Given the description of an element on the screen output the (x, y) to click on. 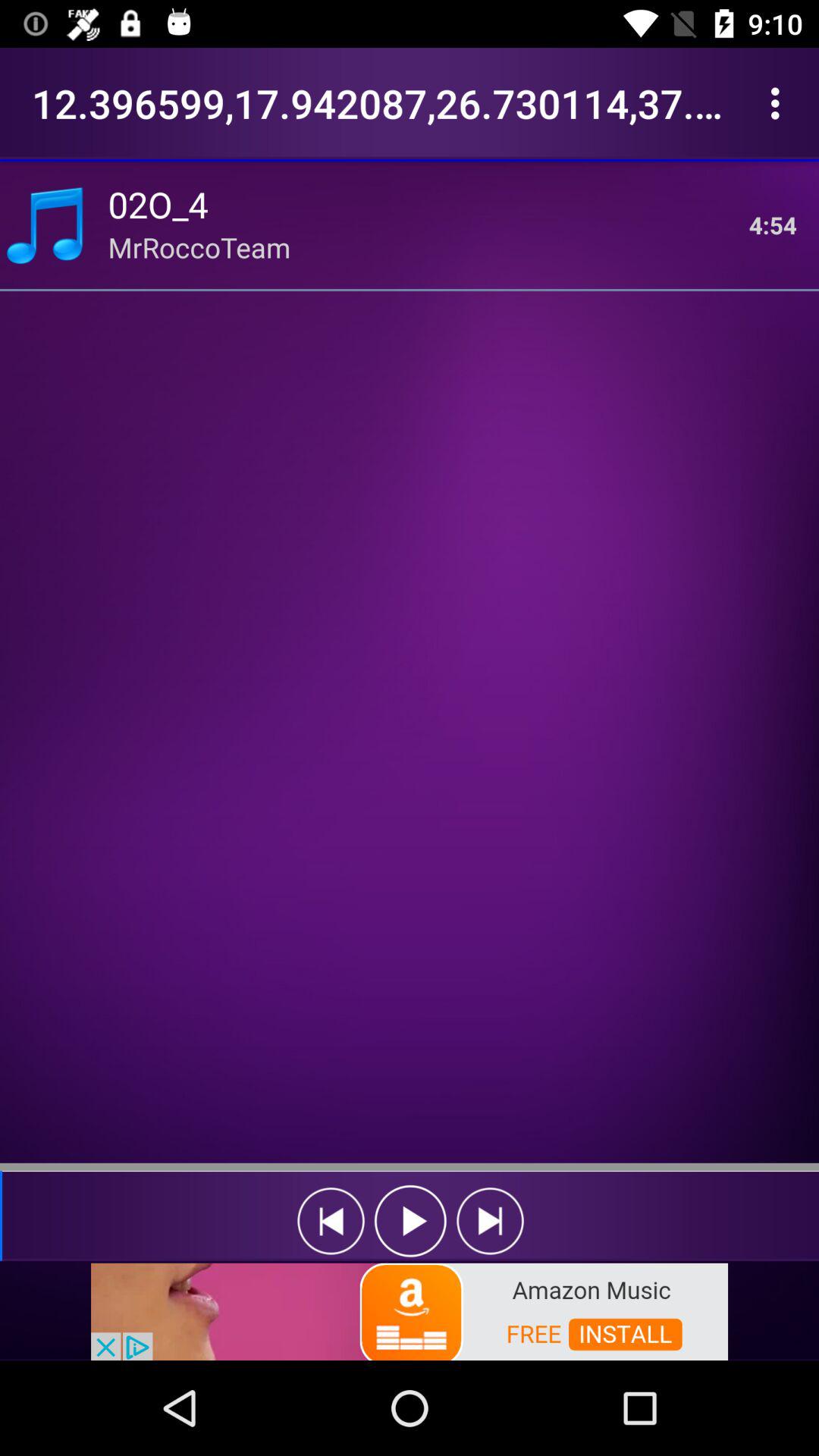
advertisements (409, 1310)
